Given the description of an element on the screen output the (x, y) to click on. 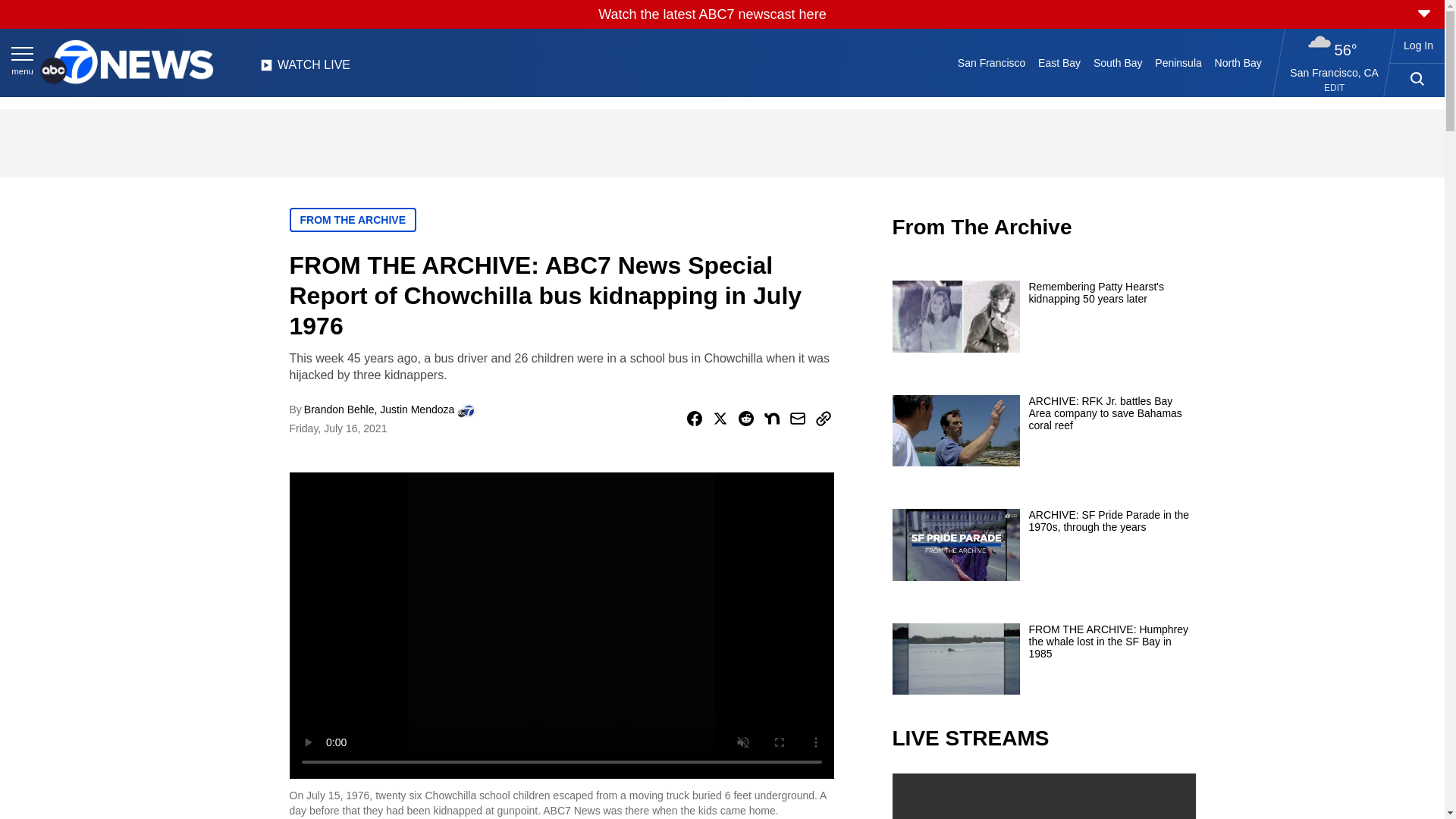
South Bay (1117, 62)
EDIT (1333, 87)
San Francisco (990, 62)
East Bay (1059, 62)
San Francisco, CA (1334, 72)
WATCH LIVE (305, 69)
Peninsula (1178, 62)
North Bay (1238, 62)
video.title (1043, 796)
